Given the description of an element on the screen output the (x, y) to click on. 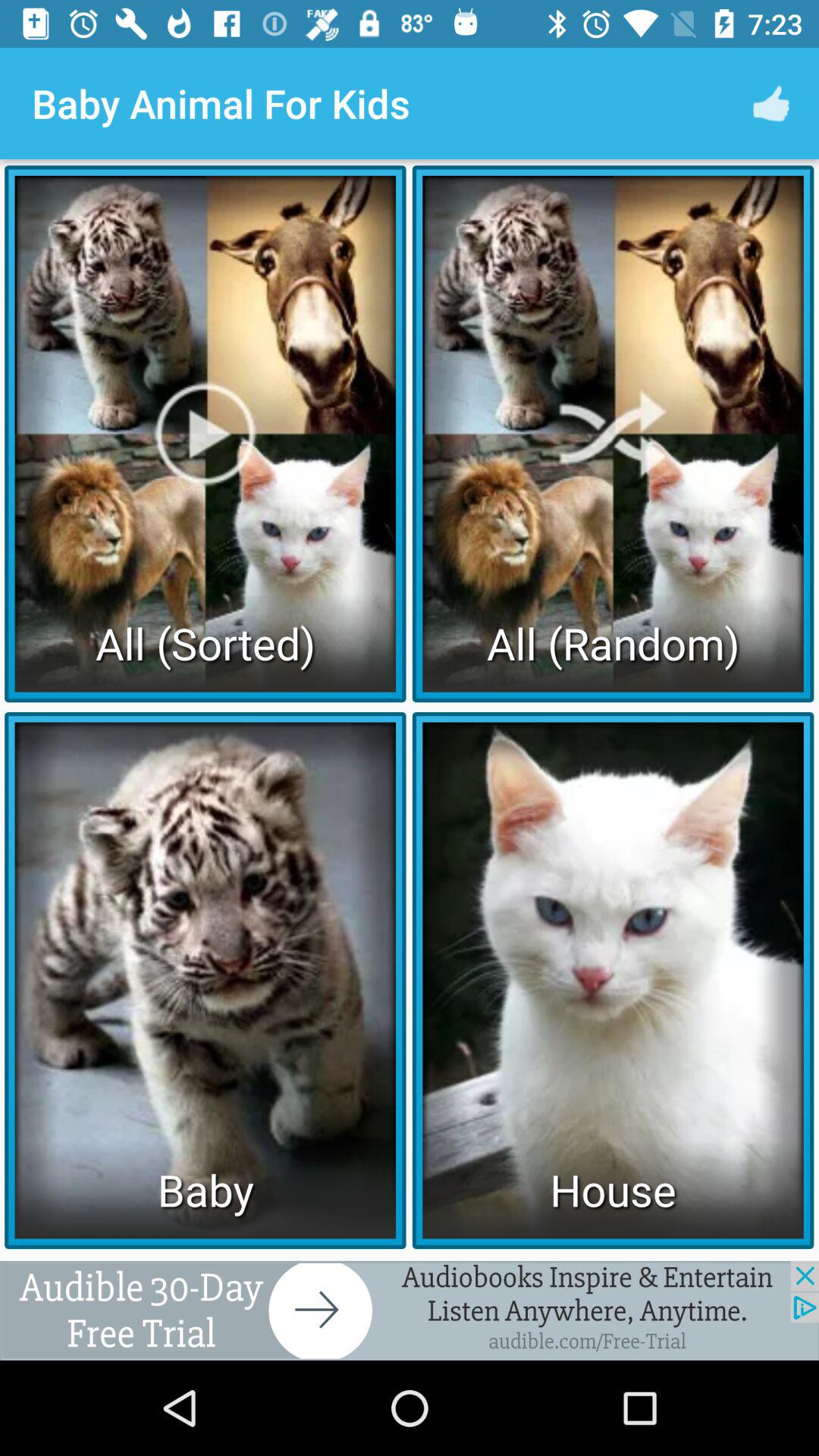
click on all random image (613, 433)
click on thumbs up symbol (771, 103)
click on the image which has the text allrandom (613, 433)
select the second image in the second row (613, 980)
